Given the description of an element on the screen output the (x, y) to click on. 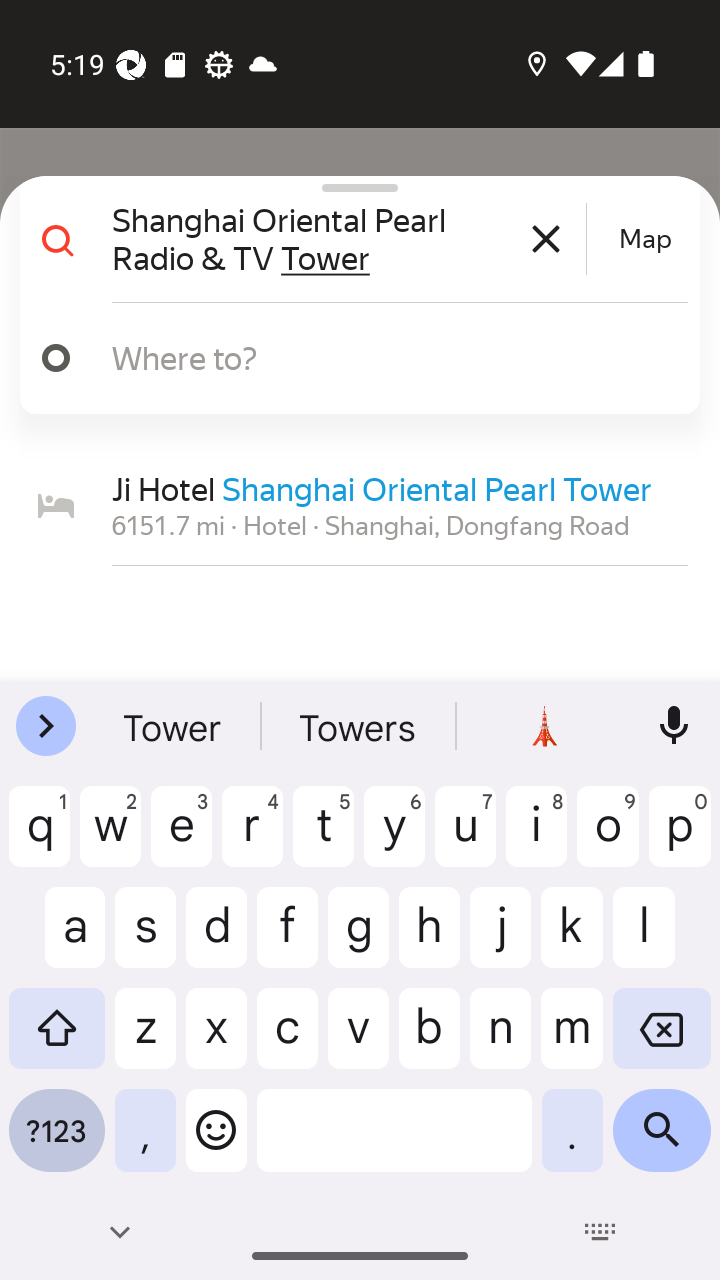
Map (645, 239)
Clear text box (546, 238)
Shanghai Oriental Pearl Radio & TV Tower (346, 238)
Where to? (352, 357)
Where to? (390, 357)
